Given the description of an element on the screen output the (x, y) to click on. 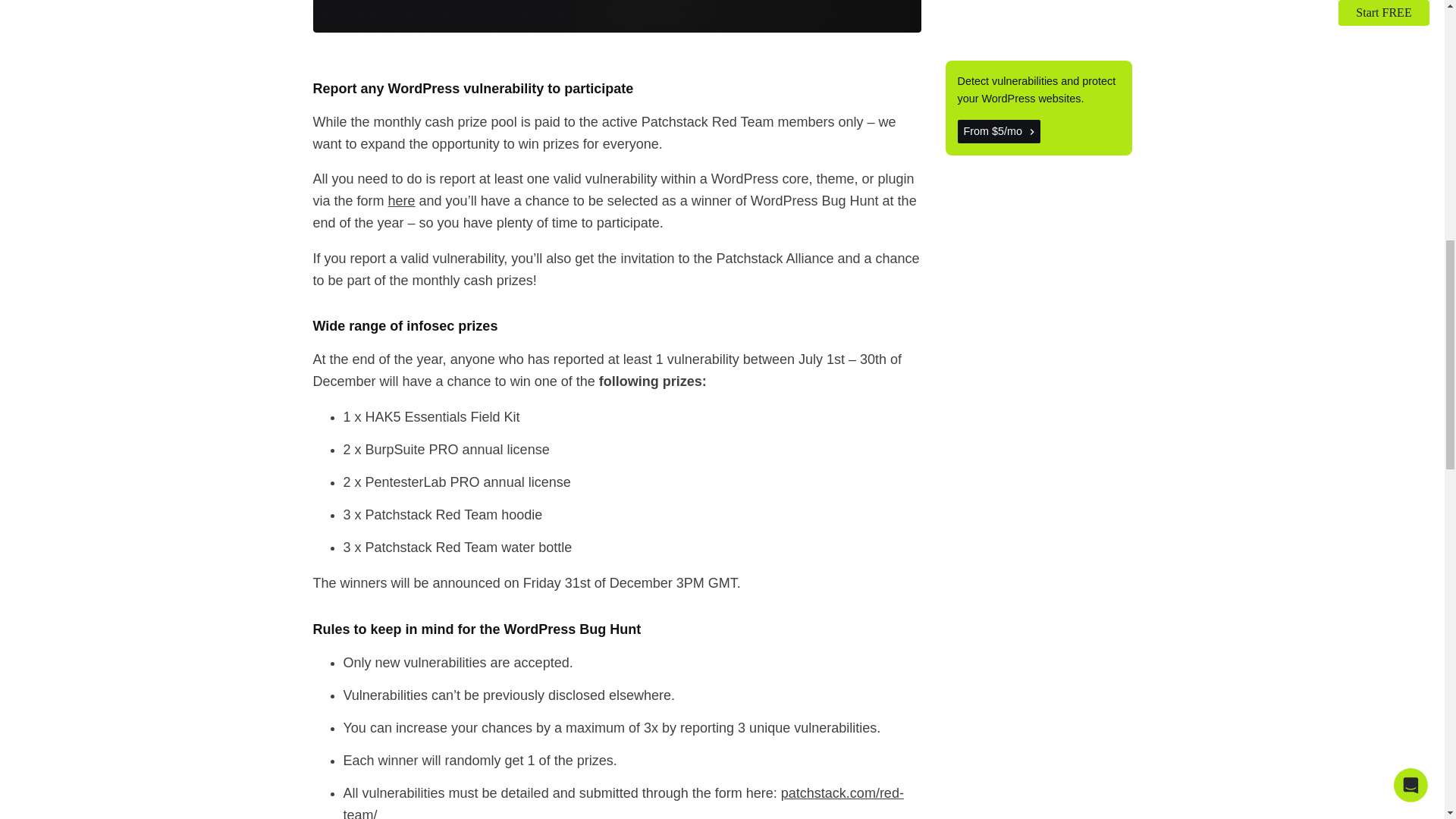
here (401, 200)
